Given the description of an element on the screen output the (x, y) to click on. 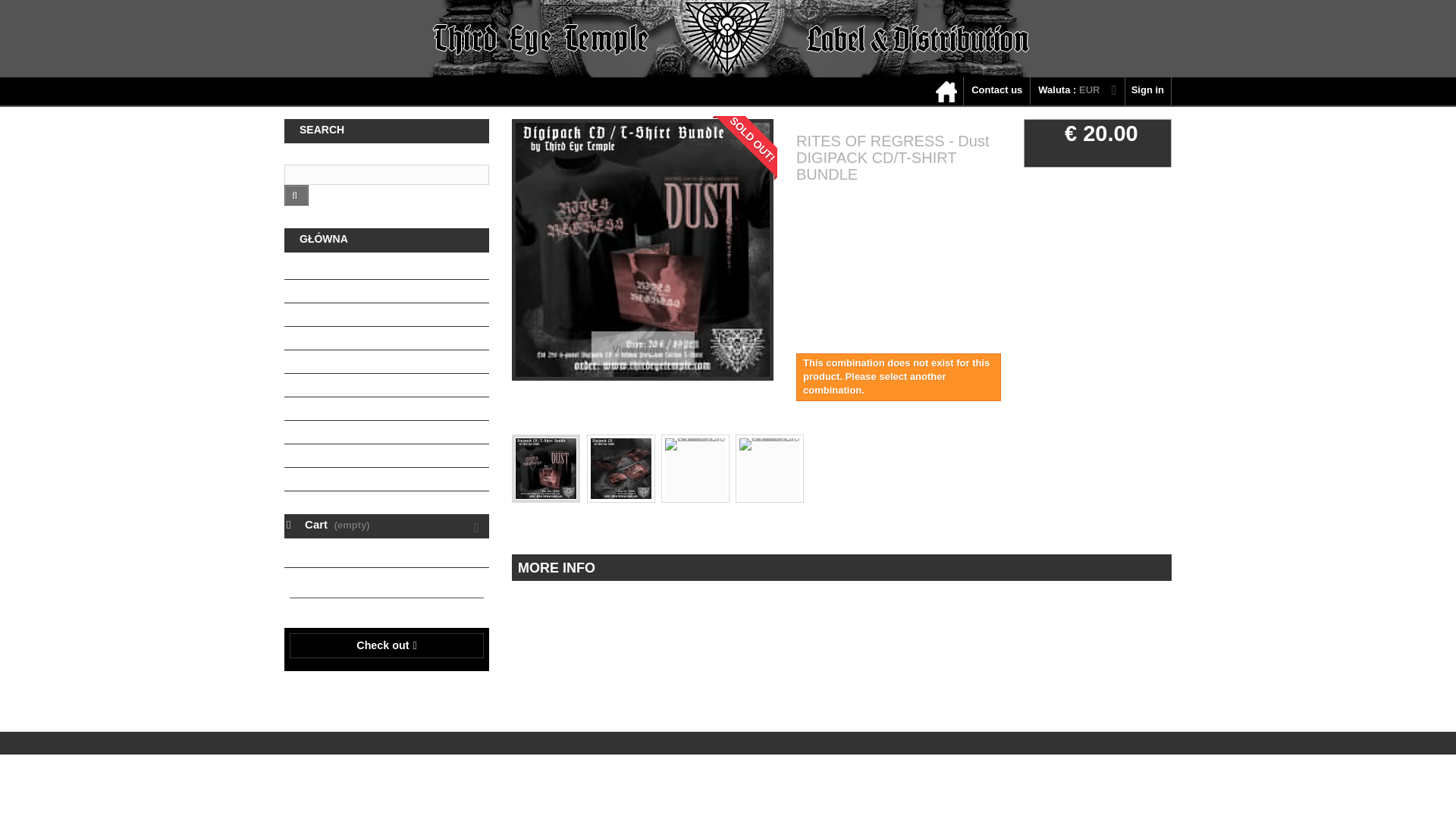
THIRD EYE TEMPLE Releases (386, 268)
Sign in (1147, 90)
Check out (386, 645)
Special Offers (386, 479)
Contact Us (996, 90)
Vinyl EP (386, 361)
Tape MC (386, 338)
Log in to your customer account (1147, 90)
Vinyl LP (386, 385)
View my shopping cart (386, 526)
Clothing (386, 408)
ZAZEN SOUNDS Distribution (386, 291)
Check out (386, 645)
CD (386, 314)
Contact us (996, 90)
